Given the description of an element on the screen output the (x, y) to click on. 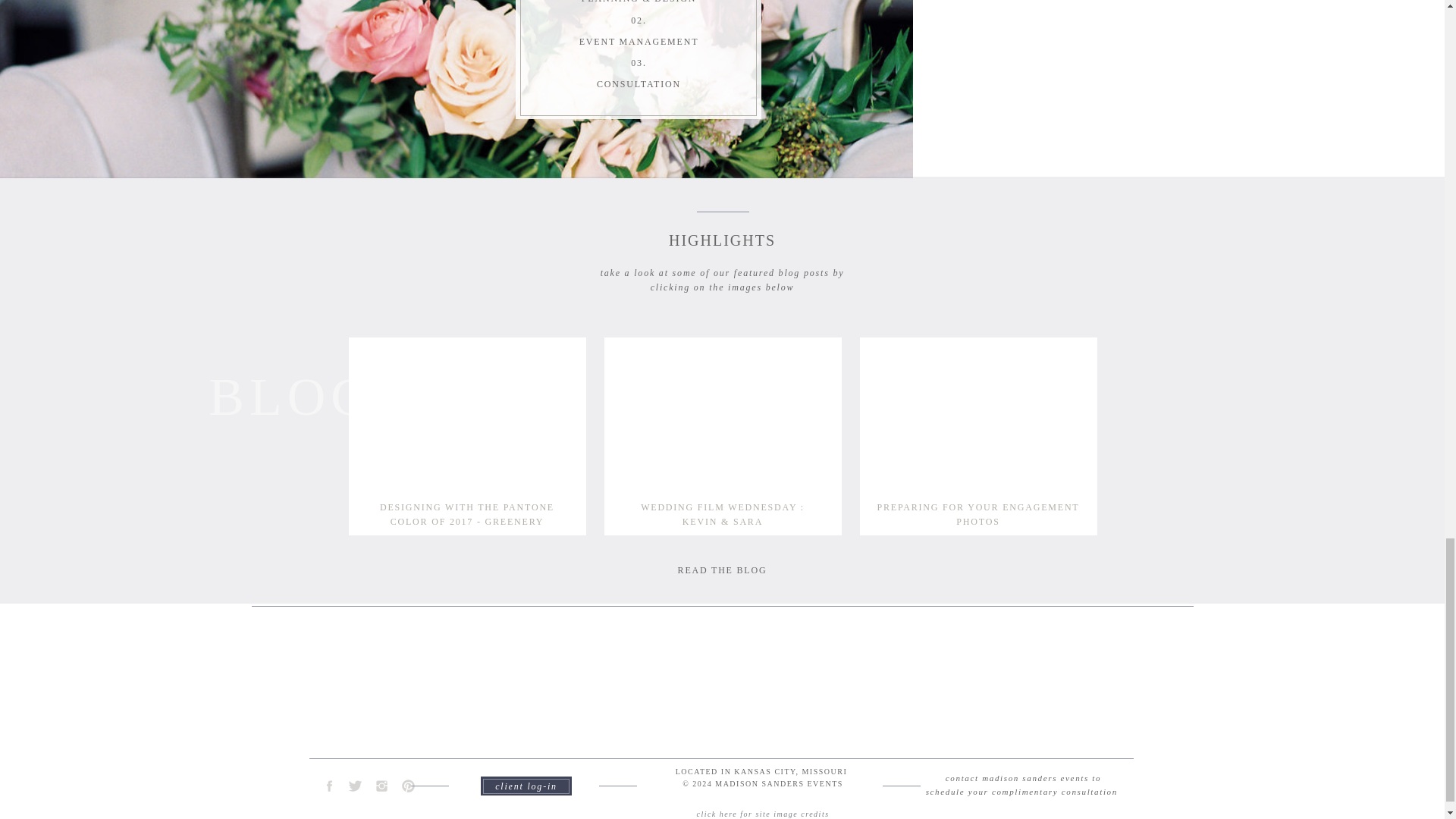
PREPARING FOR YOUR ENGAGEMENT PHOTOS (978, 506)
02. (638, 20)
EVENT MANAGEMENT (638, 42)
READ THE BLOG (722, 570)
DESIGNING WITH THE PANTONE COLOR OF 2017 - GREENERY (467, 506)
03. (638, 63)
CONSULTATION (638, 83)
   SERVICES (873, 2)
BLOG (291, 390)
